Given the description of an element on the screen output the (x, y) to click on. 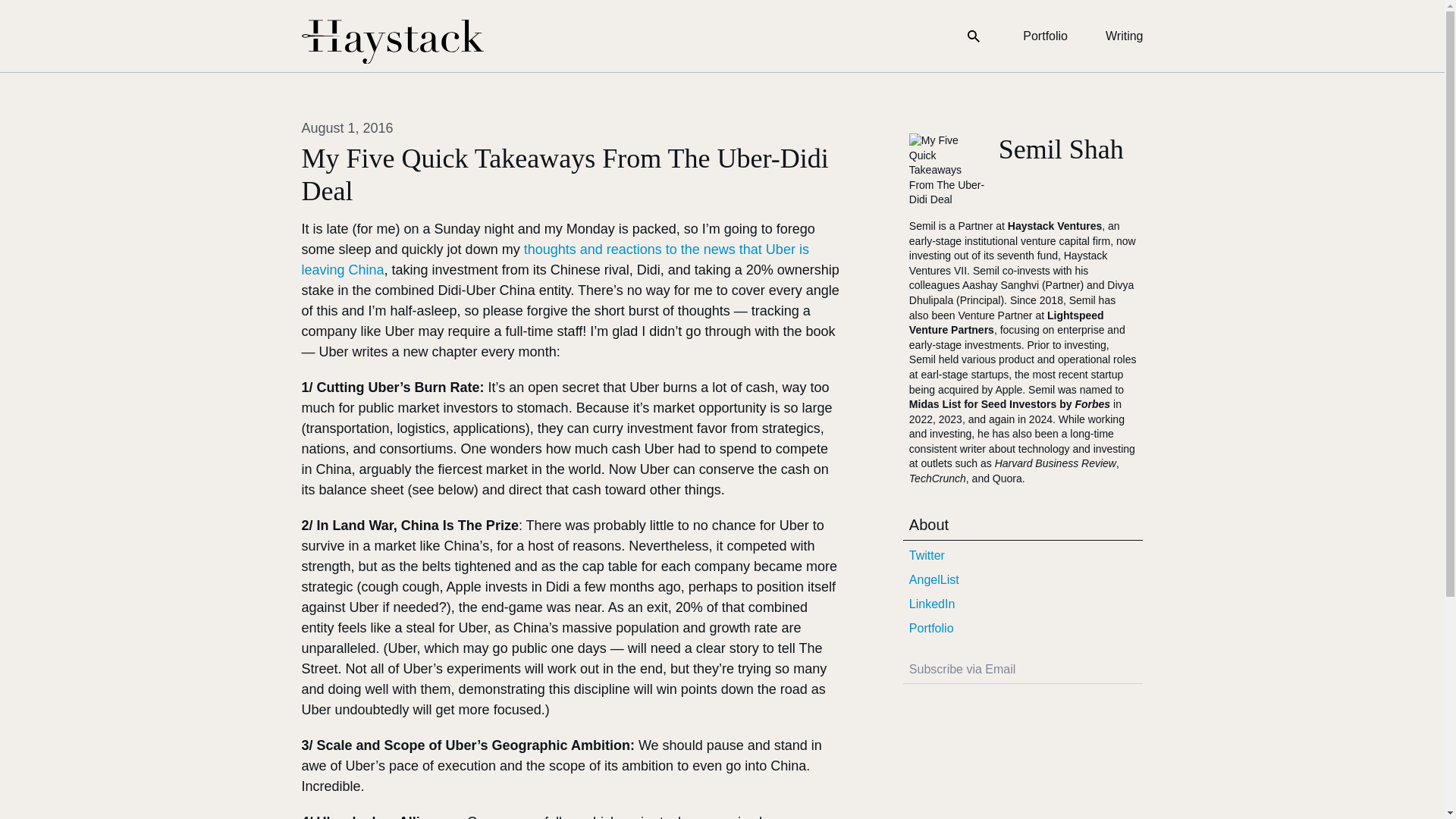
LinkedIn (1022, 604)
Twitter (1022, 555)
AngelList (1022, 580)
Portfolio (1022, 628)
Portfolio (1045, 36)
Semil Shah Blog (392, 41)
Writing (1123, 36)
